Given the description of an element on the screen output the (x, y) to click on. 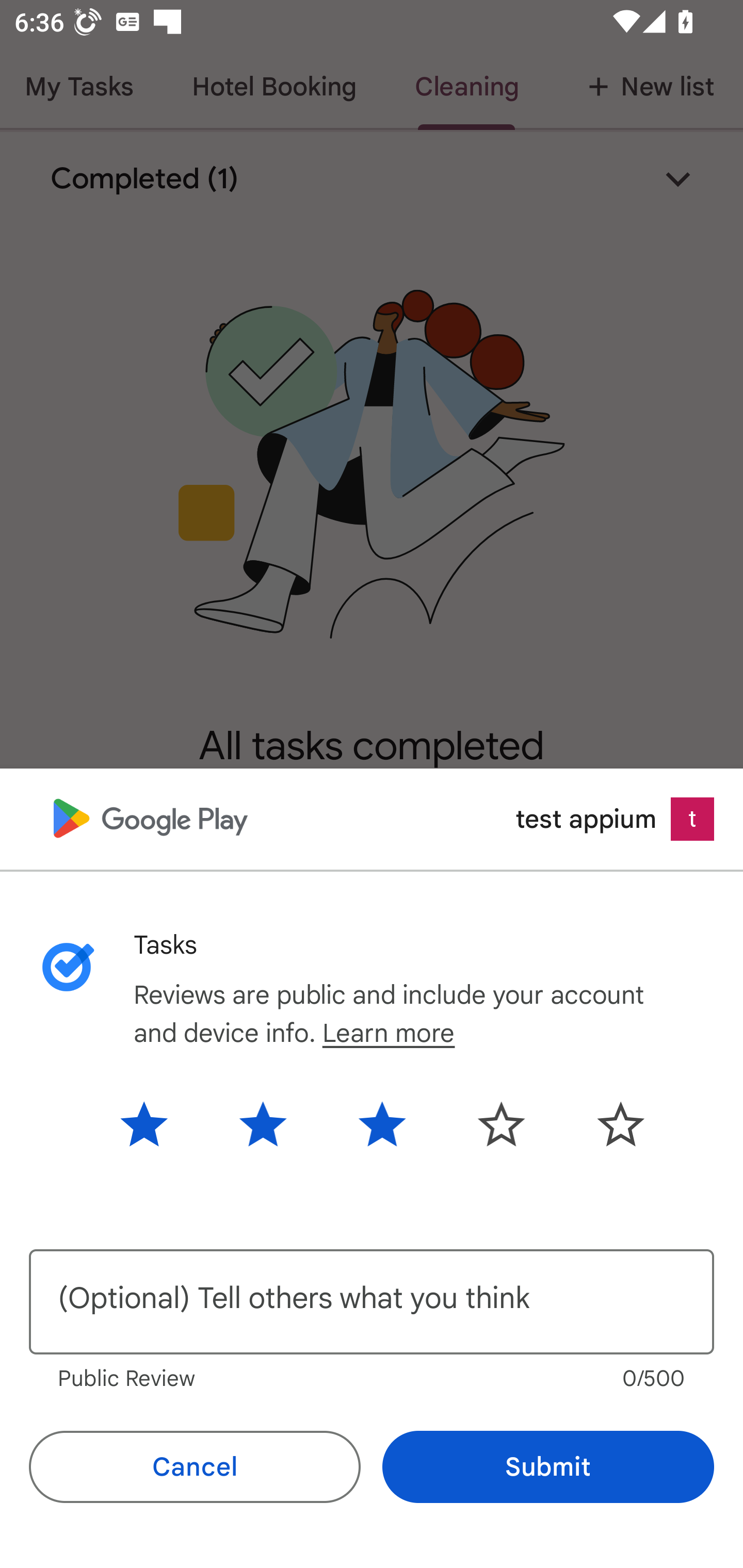
First star selected (159, 1123)
Second star selected (262, 1123)
Third star selected (381, 1123)
Fourth star unselected (500, 1123)
Fifth star unselected (604, 1123)
(Optional) Tell others what you think (371, 1301)
Cancel (194, 1466)
Submit (548, 1466)
